Given the description of an element on the screen output the (x, y) to click on. 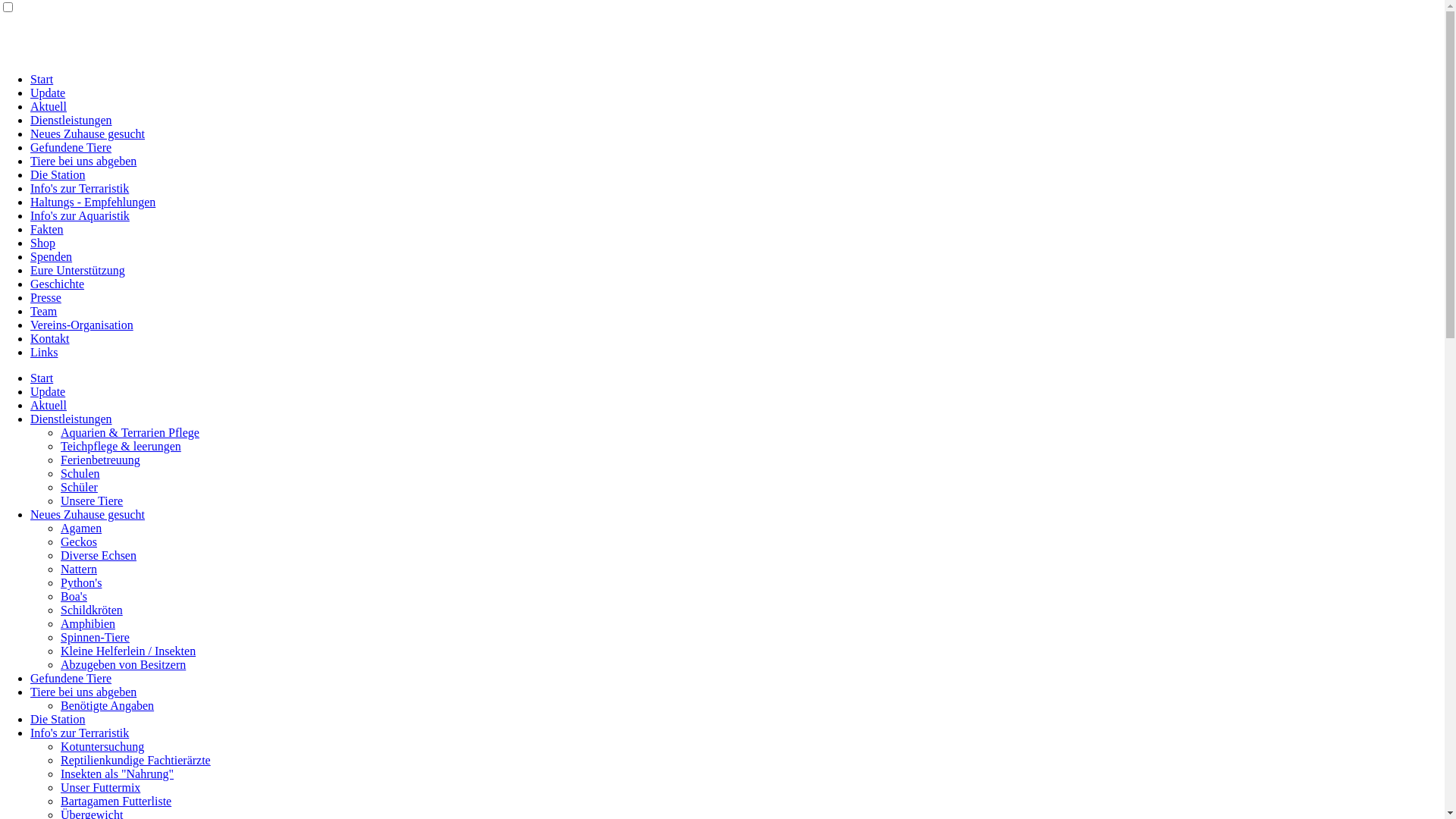
Boa's Element type: text (73, 595)
Unser Futtermix Element type: text (100, 787)
Fakten Element type: text (46, 228)
Dienstleistungen Element type: text (71, 418)
Python's Element type: text (80, 582)
Dienstleistungen Element type: text (71, 119)
Geschichte Element type: text (57, 283)
Abzugeben von Besitzern Element type: text (122, 664)
Info's zur Terraristik Element type: text (79, 732)
Links Element type: text (43, 351)
Insekten als "Nahrung" Element type: text (116, 773)
Diverse Echsen Element type: text (98, 555)
Start Element type: text (41, 78)
Gefundene Tiere Element type: text (70, 147)
Aquarien & Terrarien Pflege Element type: text (129, 432)
Amphibien Element type: text (87, 623)
Agamen Element type: text (80, 527)
Gefundene Tiere Element type: text (70, 677)
Kontakt Element type: text (49, 338)
Teichpflege & leerungen Element type: text (120, 445)
Neues Zuhause gesucht Element type: text (87, 514)
Info's zur Terraristik Element type: text (79, 188)
Haltungs - Empfehlungen Element type: text (92, 201)
Die Station Element type: text (57, 718)
Tiere bei uns abgeben Element type: text (83, 160)
Vereins-Organisation Element type: text (81, 324)
Kleine Helferlein / Insekten Element type: text (127, 650)
Update Element type: text (47, 92)
Shop Element type: text (42, 242)
Bartagamen Futterliste Element type: text (115, 800)
Info's zur Aquaristik Element type: text (79, 215)
Spinnen-Tiere Element type: text (94, 636)
Schulen Element type: text (80, 473)
Aktuell Element type: text (48, 106)
Team Element type: text (43, 310)
Kotuntersuchung Element type: text (102, 746)
Die Station Element type: text (57, 174)
Geckos Element type: text (78, 541)
Spenden Element type: text (51, 256)
Update Element type: text (47, 391)
Nattern Element type: text (78, 568)
Tiere bei uns abgeben Element type: text (83, 691)
Neues Zuhause gesucht Element type: text (87, 133)
Aktuell Element type: text (48, 404)
Start Element type: text (41, 377)
Ferienbetreuung Element type: text (100, 459)
Unsere Tiere Element type: text (91, 500)
Presse Element type: text (45, 297)
